Given the description of an element on the screen output the (x, y) to click on. 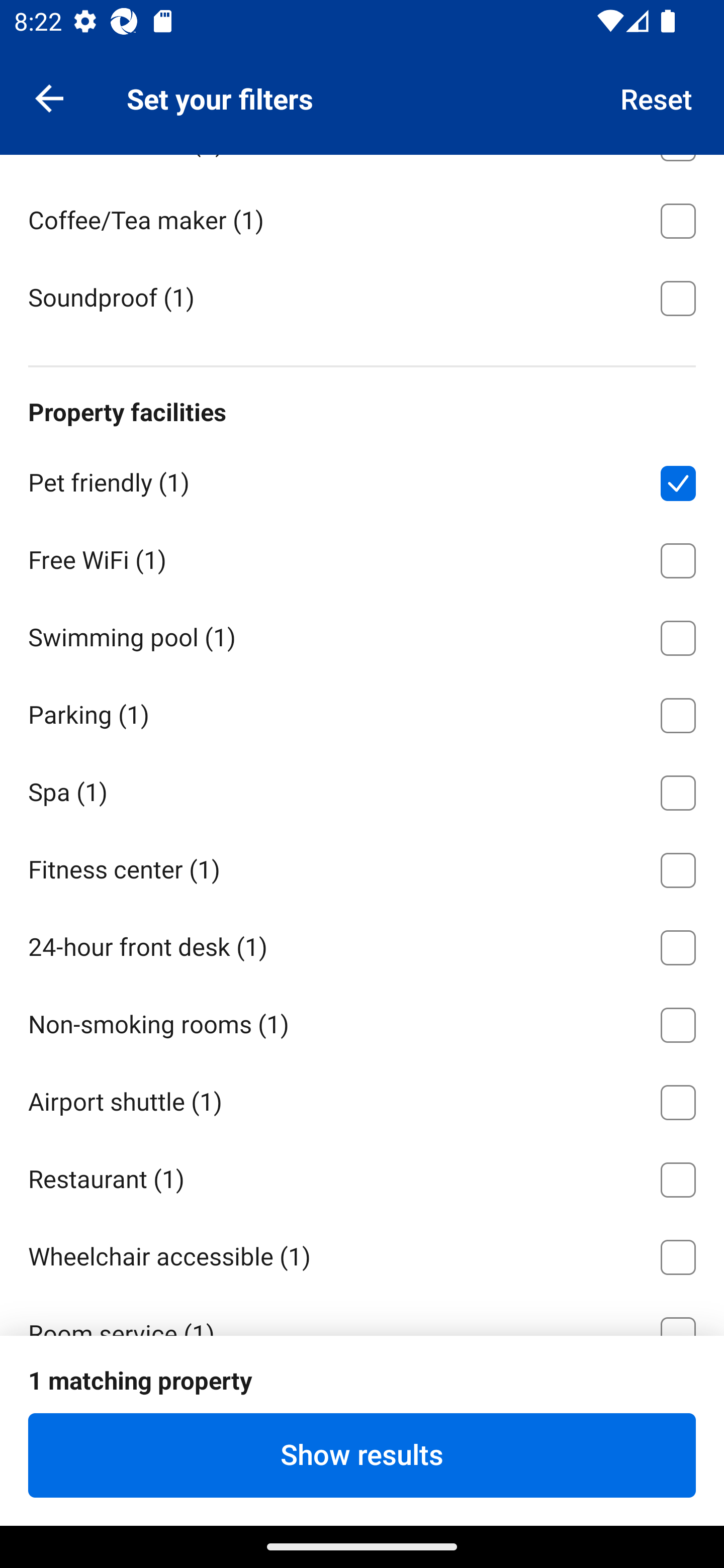
Navigate up (49, 97)
Reset (656, 97)
Coffee/Tea maker ⁦(1) (361, 216)
Soundproof ⁦(1) (361, 296)
Pet friendly ⁦(1) (361, 479)
Free WiFi ⁦(1) (361, 557)
Swimming pool ⁦(1) (361, 633)
Parking ⁦(1) (361, 711)
Spa ⁦(1) (361, 789)
Fitness center ⁦(1) (361, 866)
24-hour front desk ⁦(1) (361, 944)
Non-smoking rooms ⁦(1) (361, 1021)
Airport shuttle ⁦(1) (361, 1098)
Restaurant ⁦(1) (361, 1176)
Wheelchair accessible ⁦(1) (361, 1253)
Show results (361, 1454)
